Given the description of an element on the screen output the (x, y) to click on. 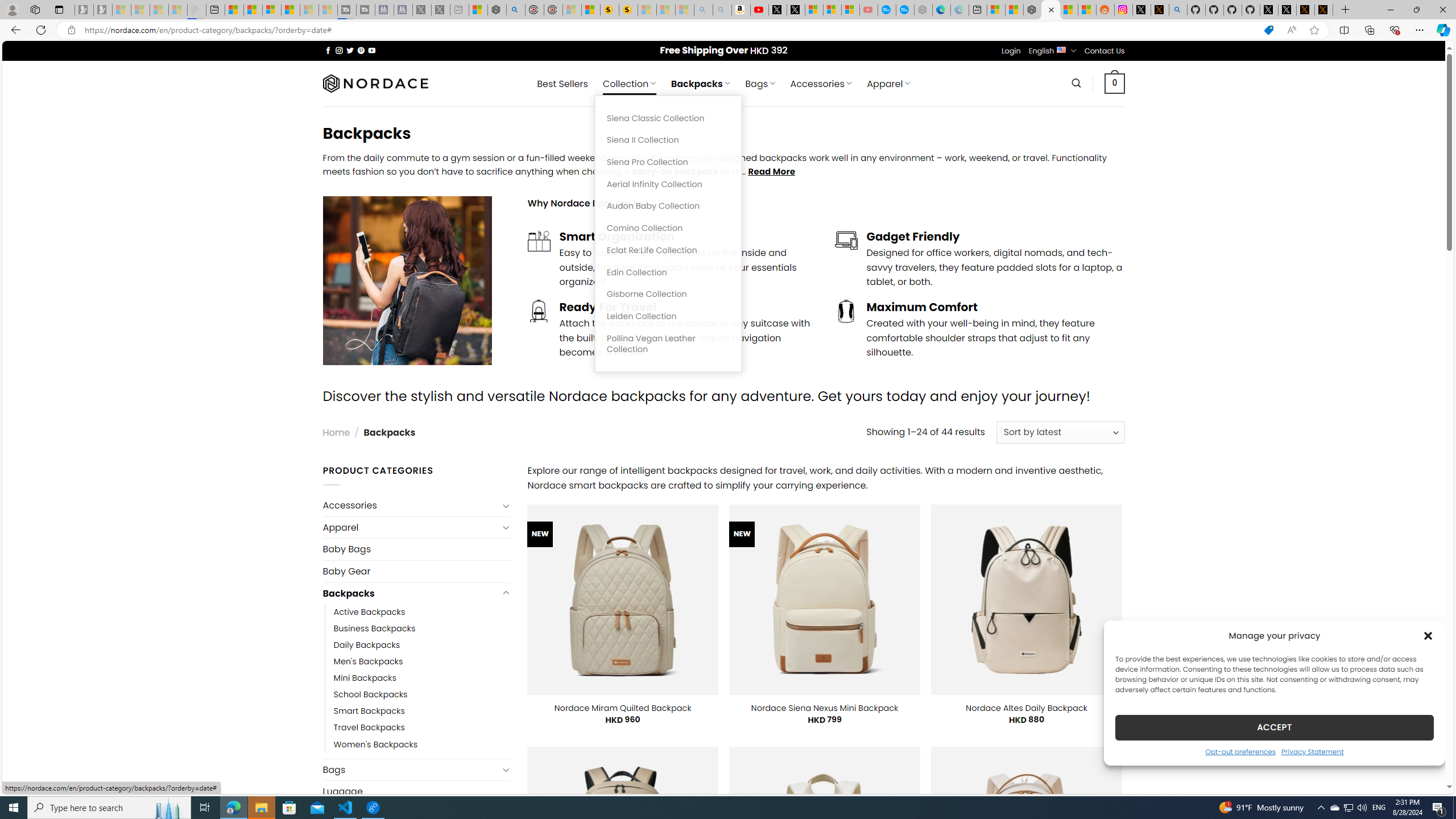
This site has coupons! Shopping in Microsoft Edge (1268, 29)
Comino Collection (668, 228)
Nordace - Summer Adventures 2024 (497, 9)
Follow on Instagram (338, 49)
Apparel (410, 527)
New Tab (1346, 9)
Settings and more (Alt+F) (1419, 29)
Minimize (1390, 9)
Read aloud this page (Ctrl+Shift+U) (1291, 29)
School Backpacks (422, 694)
English (1061, 49)
